Given the description of an element on the screen output the (x, y) to click on. 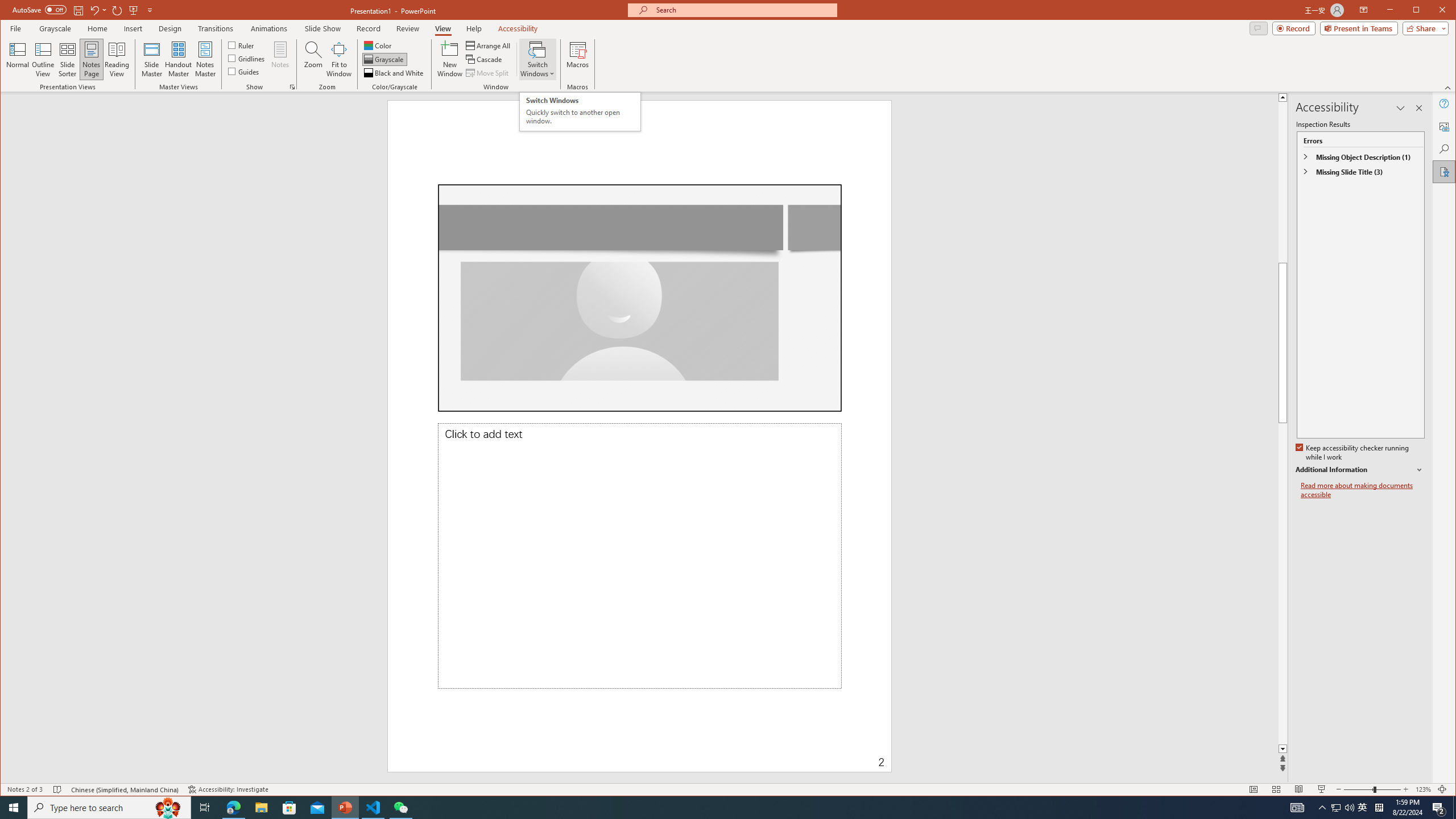
Guides (243, 70)
